Given the description of an element on the screen output the (x, y) to click on. 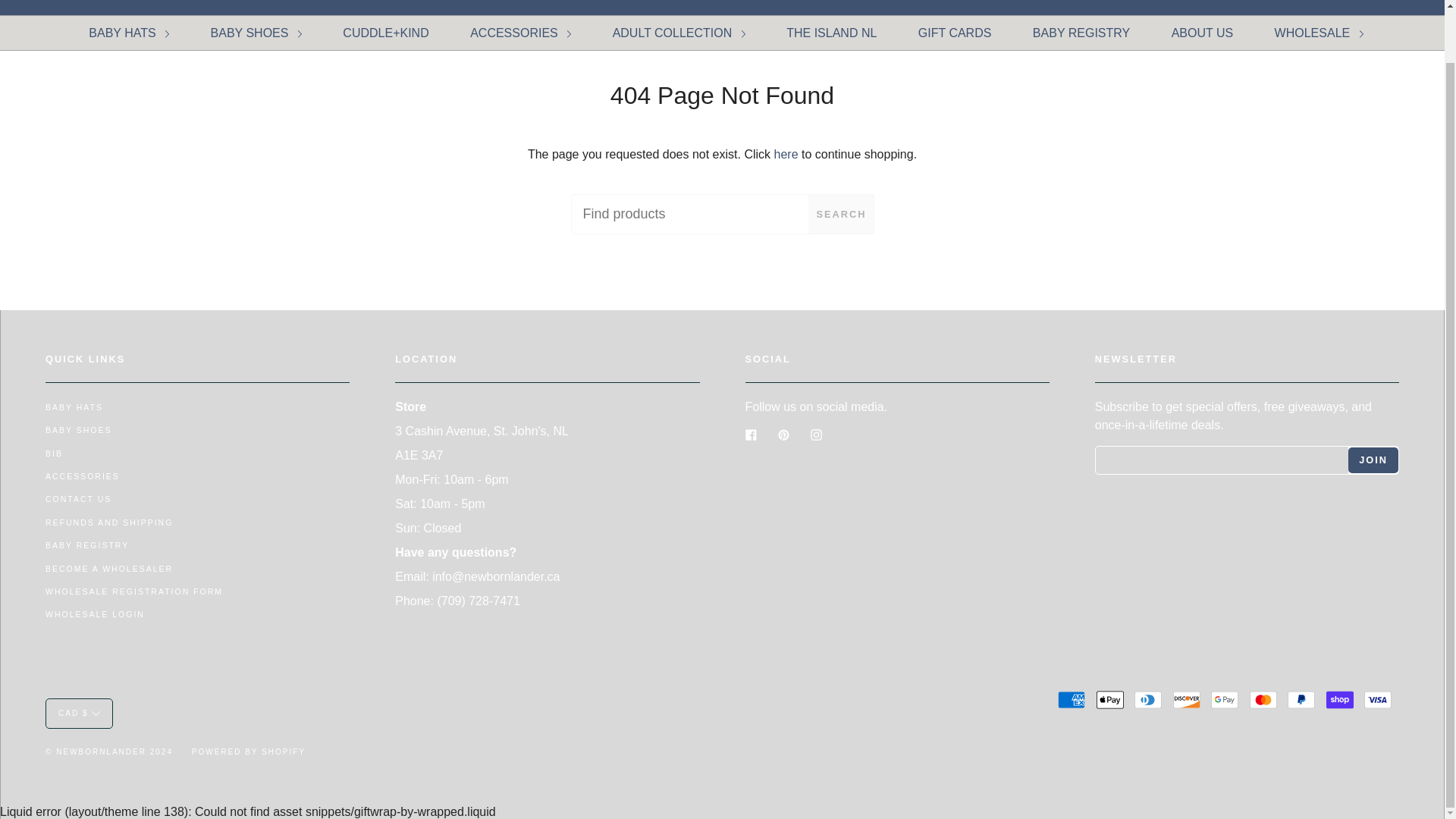
Cart (1413, 7)
PayPal (1300, 700)
American Express (1071, 700)
BABY SHOES (255, 32)
Discover (1186, 700)
Diners Club (1147, 700)
Mastercard (1262, 700)
Join (1372, 459)
Search (1382, 7)
My Account (1353, 7)
Apple Pay (1110, 700)
ACCESSORIES (520, 32)
Search our store (1382, 7)
BABY HATS (128, 32)
Shopping Cart (1413, 7)
